Given the description of an element on the screen output the (x, y) to click on. 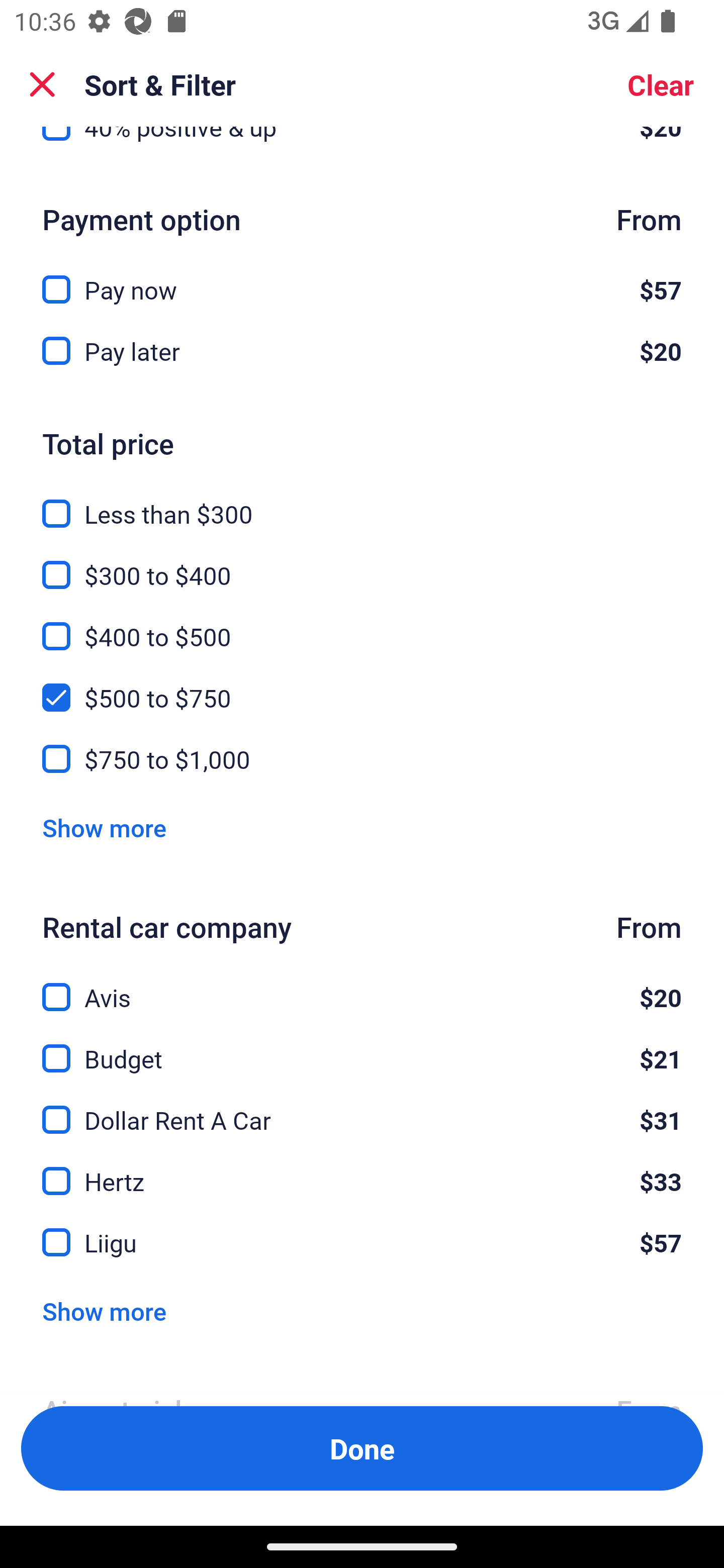
Close Sort and Filter (42, 84)
Clear (660, 84)
40% positive & up, $20 40% positive & up $20 (361, 148)
Pay now, $57 Pay now $57 (361, 277)
Pay later, $20 Pay later $20 (361, 350)
Less than $300, Less than $300 (361, 502)
$300 to $400, $300 to $400 (361, 563)
$400 to $500, $400 to $500 (361, 624)
$500 to $750, $500 to $750 (361, 685)
$750 to $1,000, $750 to $1,000 (361, 758)
Show more Show more Link (103, 827)
Avis, $20 Avis $20 (361, 985)
Budget, $21 Budget $21 (361, 1047)
Dollar Rent A Car, $31 Dollar Rent A Car $31 (361, 1108)
Hertz, $33 Hertz $33 (361, 1170)
Liigu, $57 Liigu $57 (361, 1243)
Show more Show more Link (103, 1310)
Apply and close Sort and Filter Done (361, 1448)
